Given the description of an element on the screen output the (x, y) to click on. 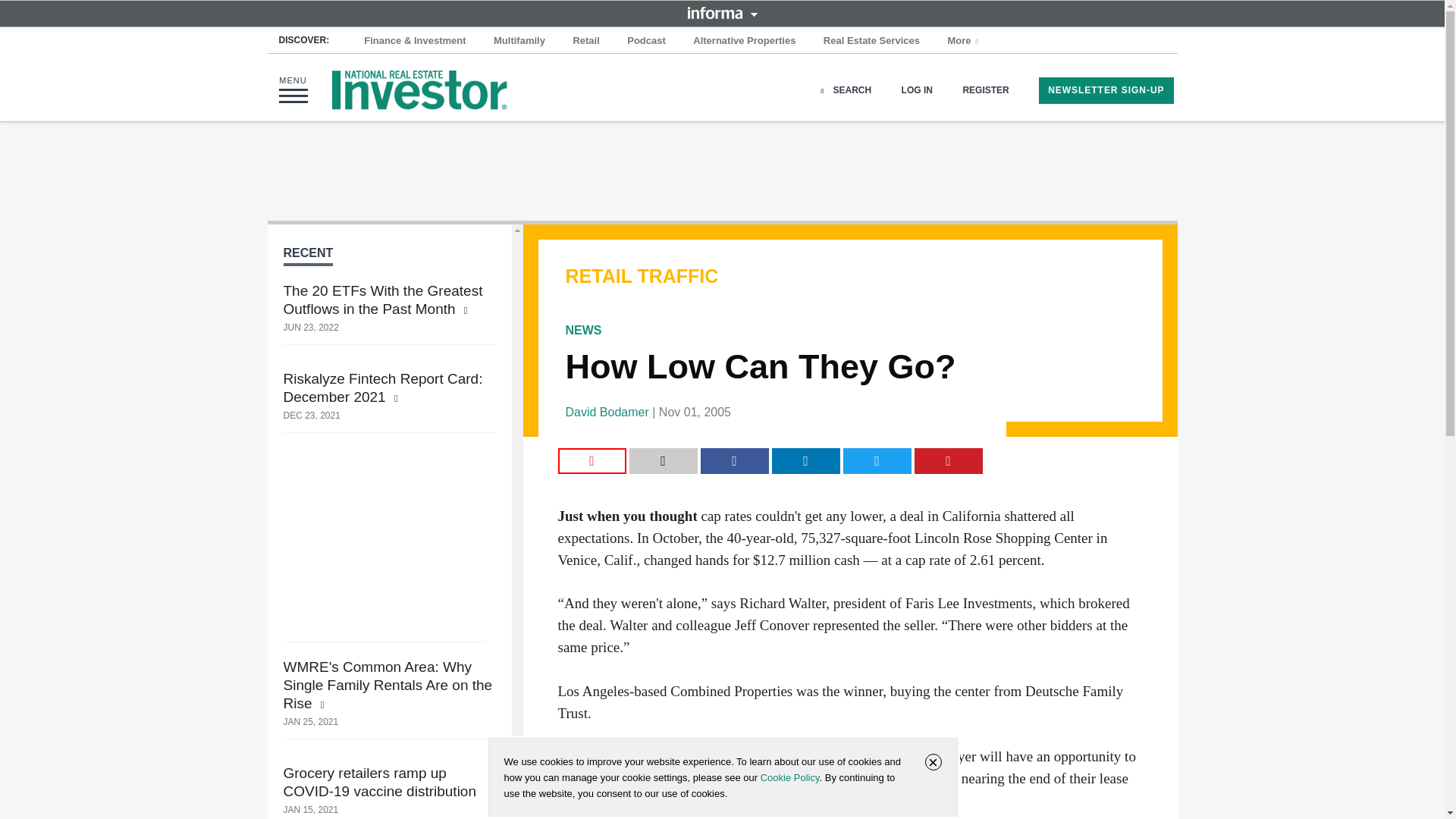
Multifamily (519, 41)
More (964, 41)
Retail (585, 41)
Cookie Policy (789, 777)
INFORMA (722, 12)
Real Estate Services (871, 41)
Alternative Properties (744, 41)
Podcast (646, 41)
